Given the description of an element on the screen output the (x, y) to click on. 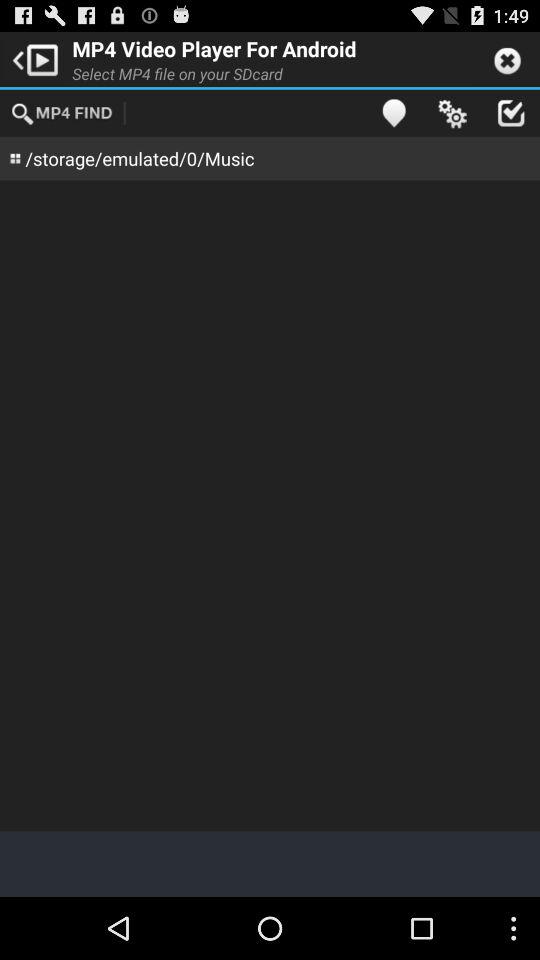
turn off the item at the center (270, 505)
